Given the description of an element on the screen output the (x, y) to click on. 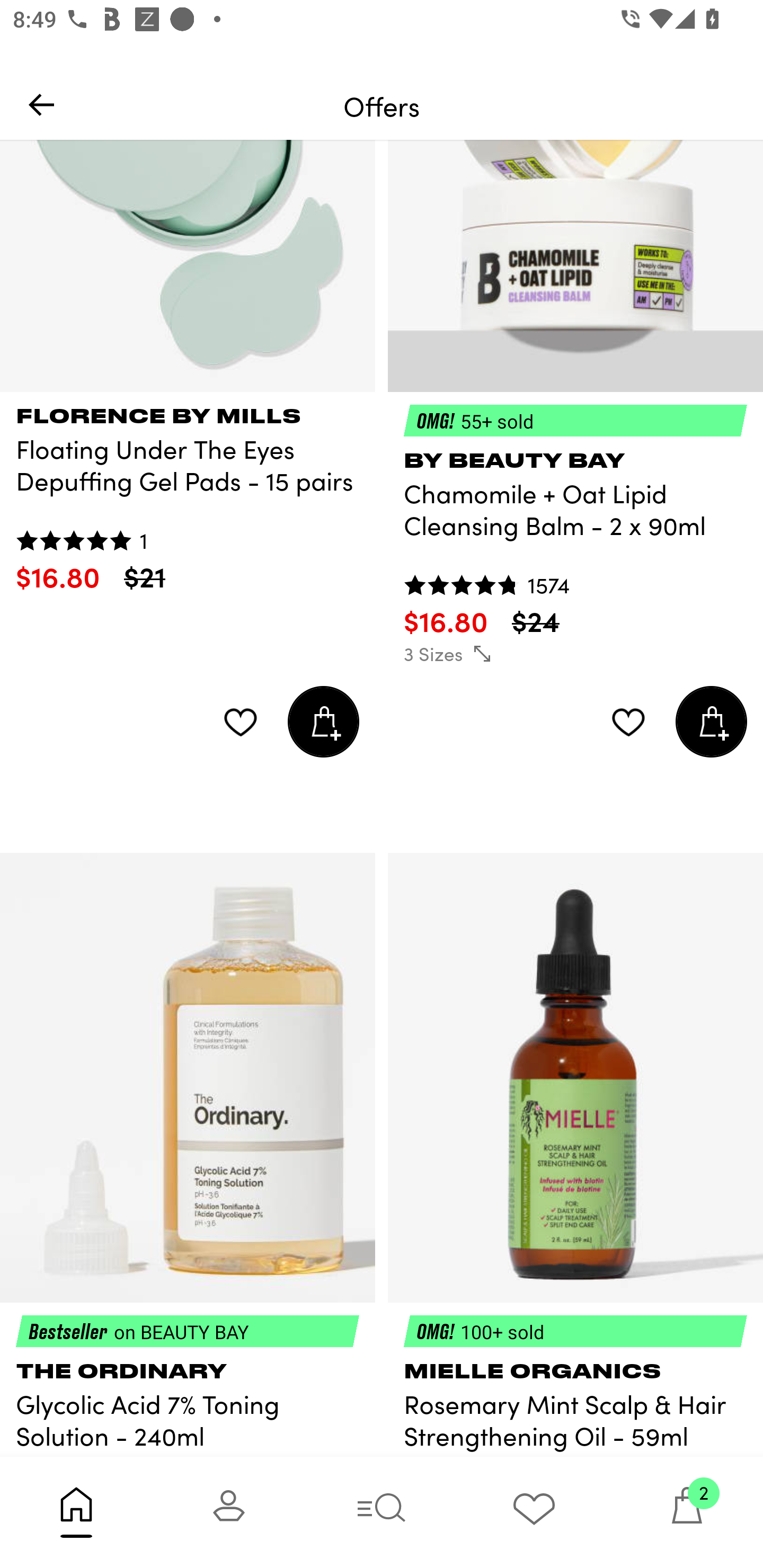
2 (686, 1512)
